Given the description of an element on the screen output the (x, y) to click on. 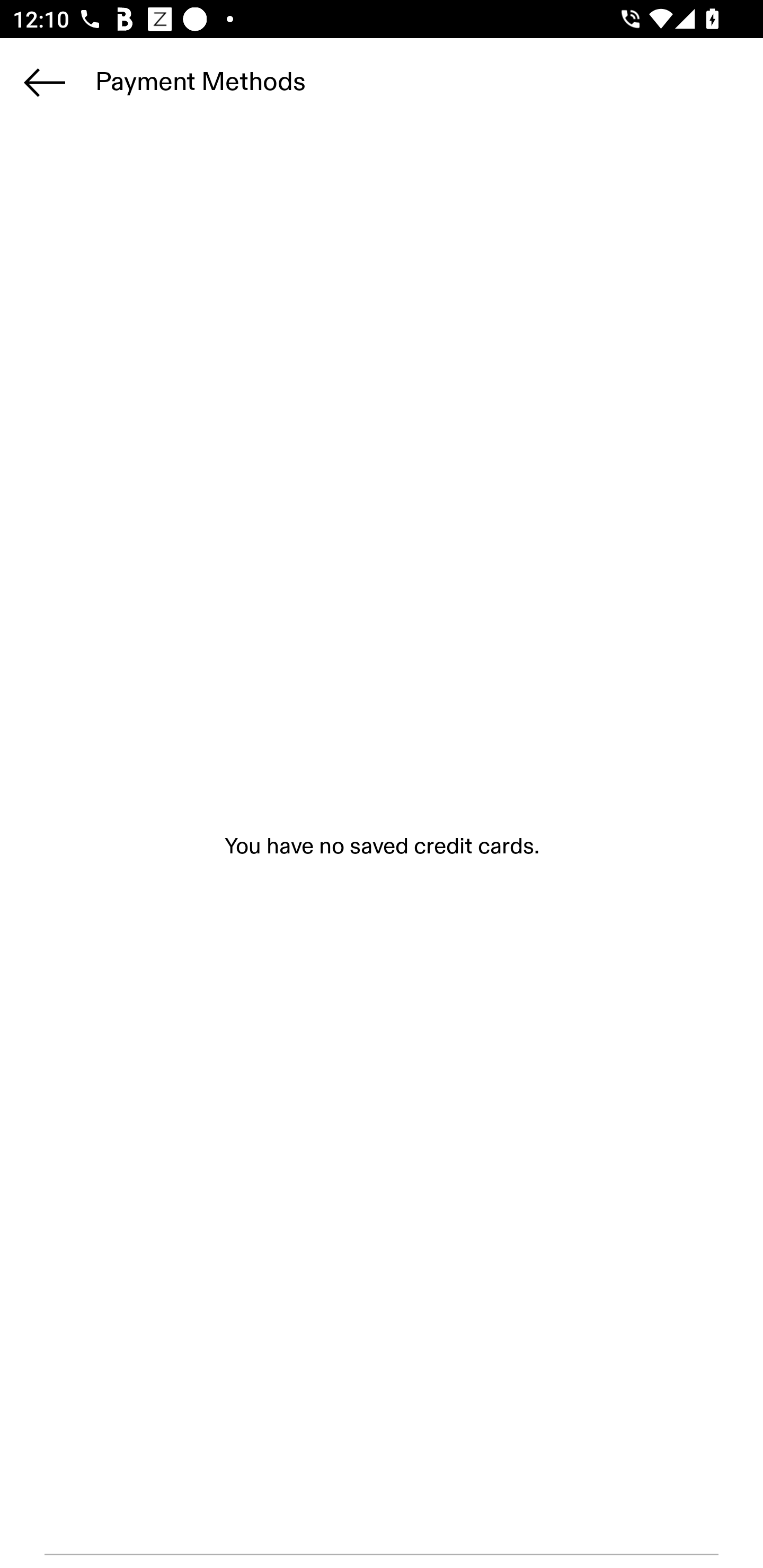
Navigate up (44, 82)
